Given the description of an element on the screen output the (x, y) to click on. 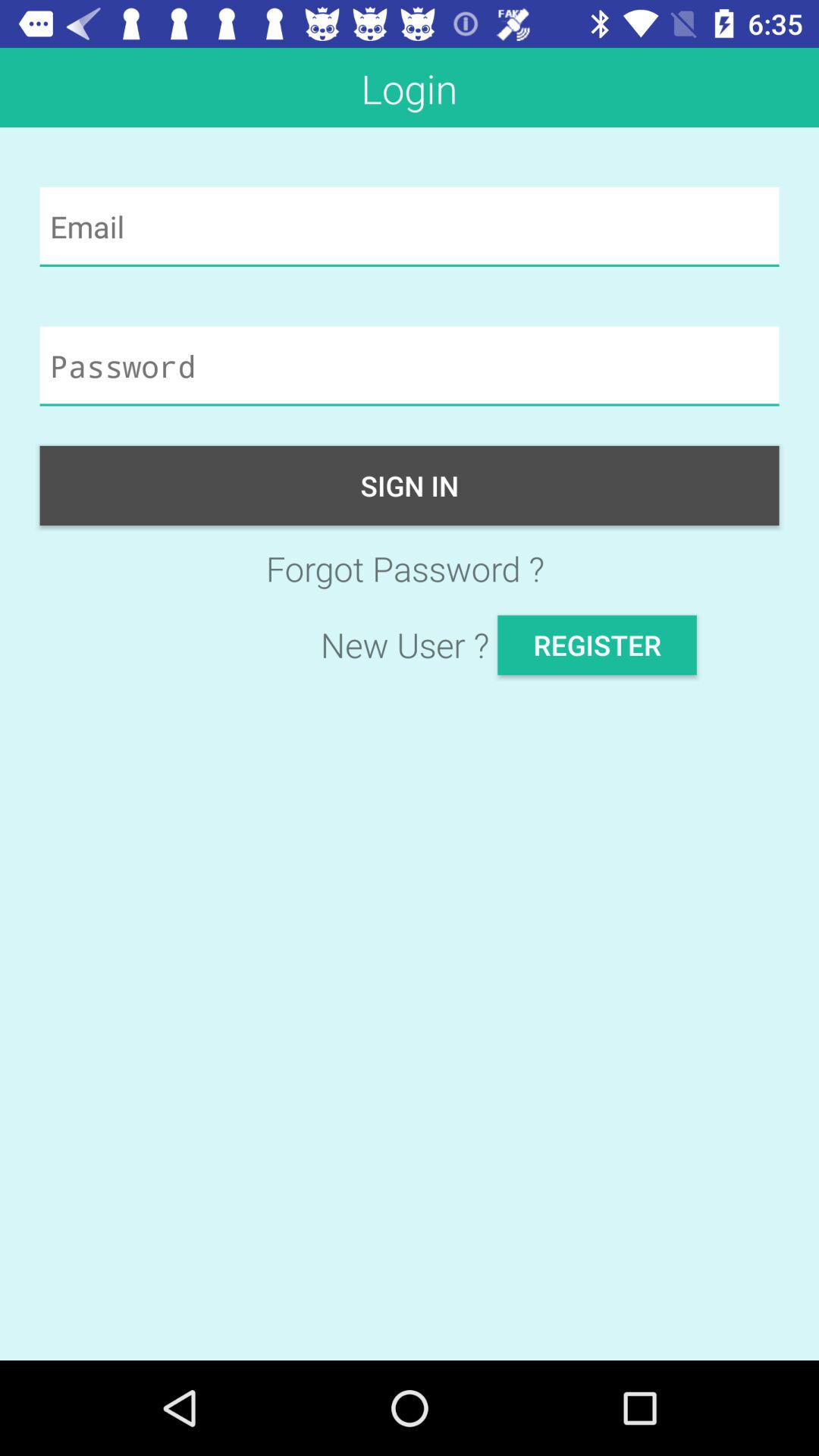
jump to the forgot password ?  icon (409, 568)
